Given the description of an element on the screen output the (x, y) to click on. 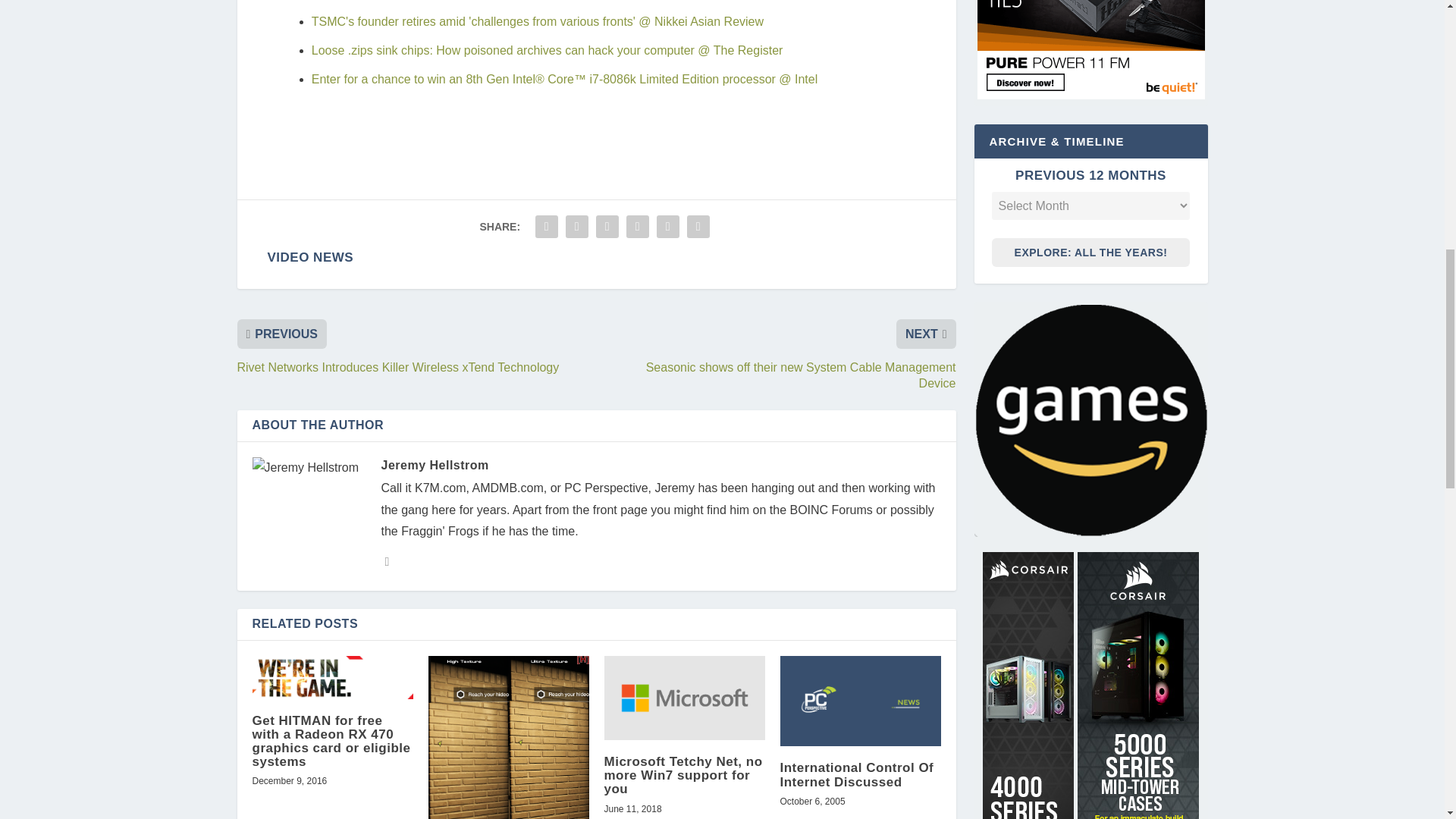
View all posts by Jeremy Hellstrom (433, 464)
Microsoft Tetchy Net, no more Win7 support for you (684, 698)
Watch this Dog run (508, 737)
